Given the description of an element on the screen output the (x, y) to click on. 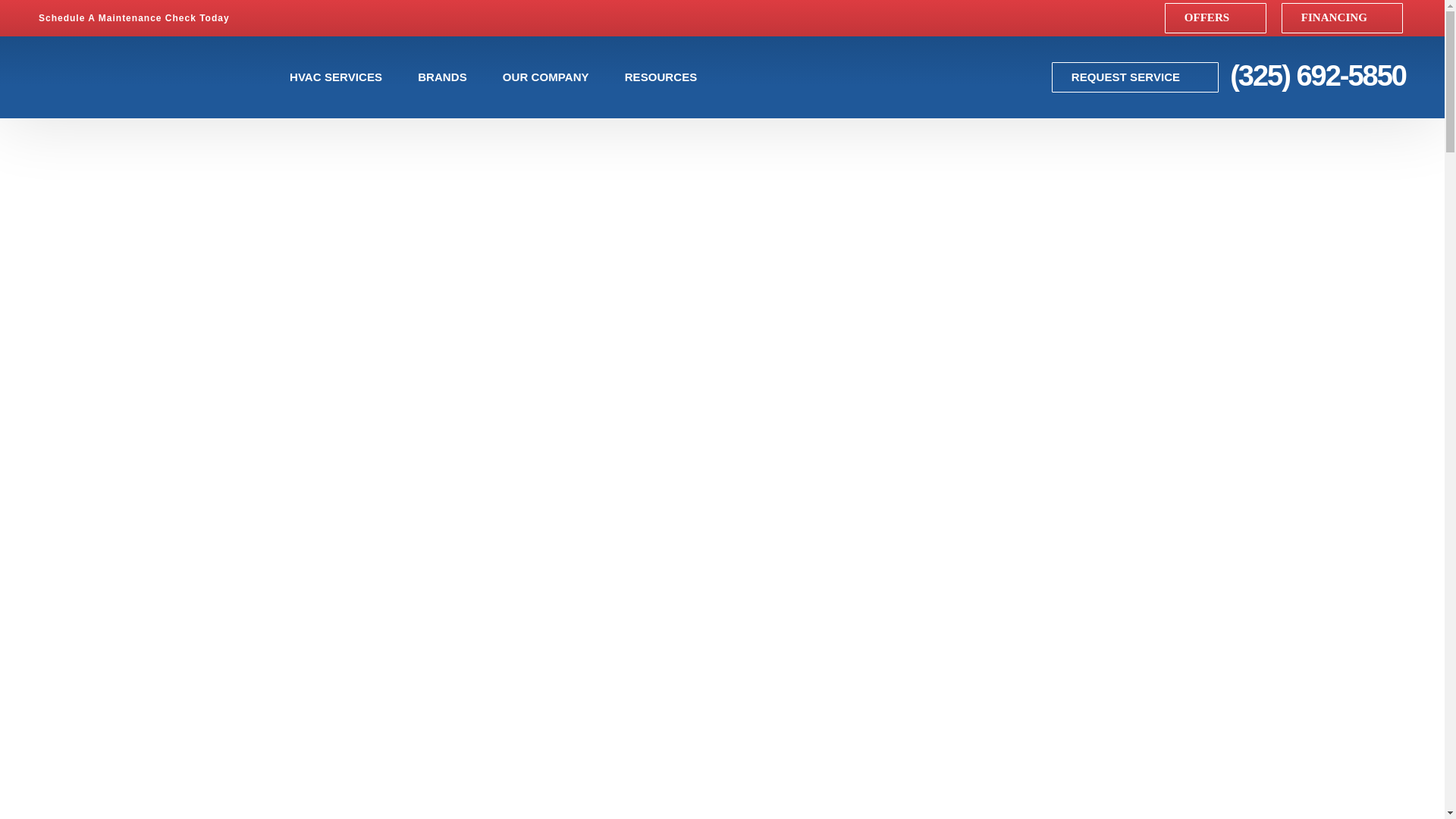
OUR COMPANY (553, 77)
REQUEST SERVICE (1134, 77)
Schedule A Maintenance Check Today (143, 18)
OFFERS (1215, 18)
FINANCING (1342, 18)
HVAC SERVICES (343, 77)
BRANDS (449, 77)
RESOURCES (669, 77)
